Given the description of an element on the screen output the (x, y) to click on. 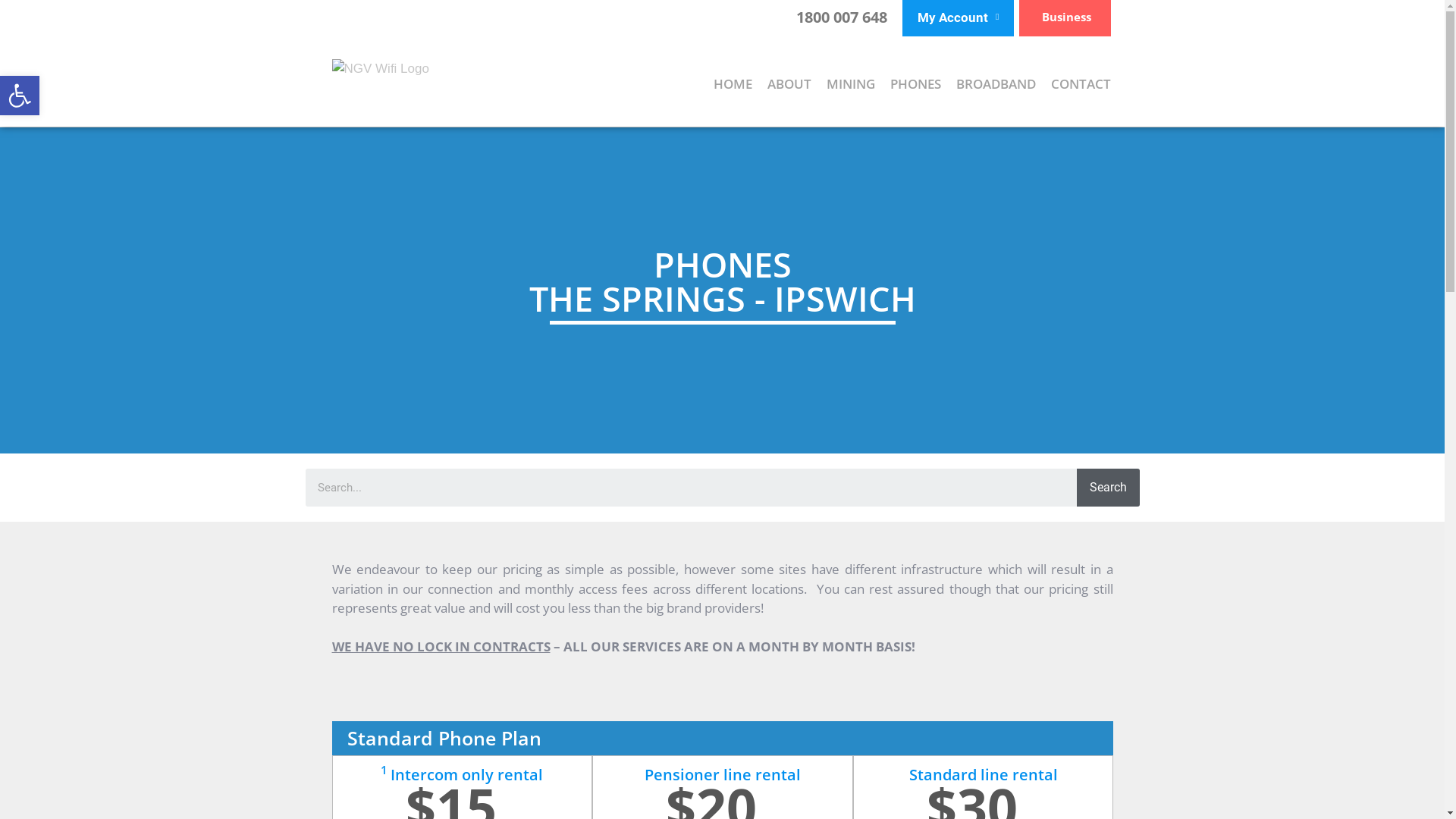
Search Element type: hover (690, 487)
MINING Element type: text (850, 83)
My Account Element type: text (957, 17)
Open toolbar
Accessibility Tools Element type: text (19, 95)
ABOUT Element type: text (789, 83)
HOME Element type: text (732, 83)
PHONES Element type: text (915, 83)
CONTACT Element type: text (1080, 83)
BROADBAND Element type: text (995, 83)
Search Element type: text (1107, 487)
